Given the description of an element on the screen output the (x, y) to click on. 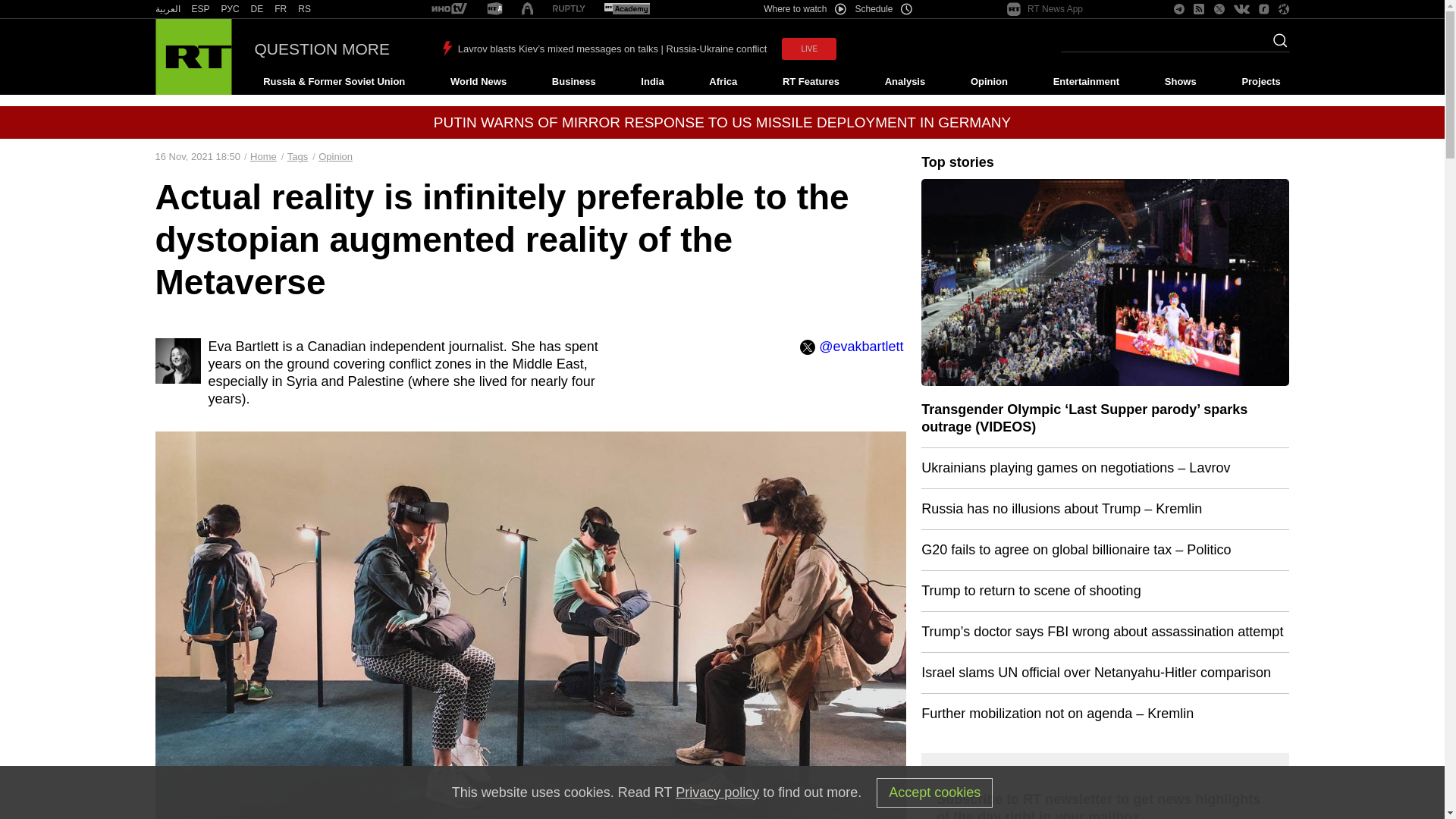
RT  (230, 9)
RT  (280, 9)
Shows (1180, 81)
QUESTION MORE (322, 48)
RT  (304, 9)
Analysis (905, 81)
Entertainment (1085, 81)
ESP (199, 9)
LIVE (808, 48)
Search (1276, 44)
RS (304, 9)
FR (280, 9)
Schedule (884, 9)
Opinion (988, 81)
RT  (626, 9)
